Given the description of an element on the screen output the (x, y) to click on. 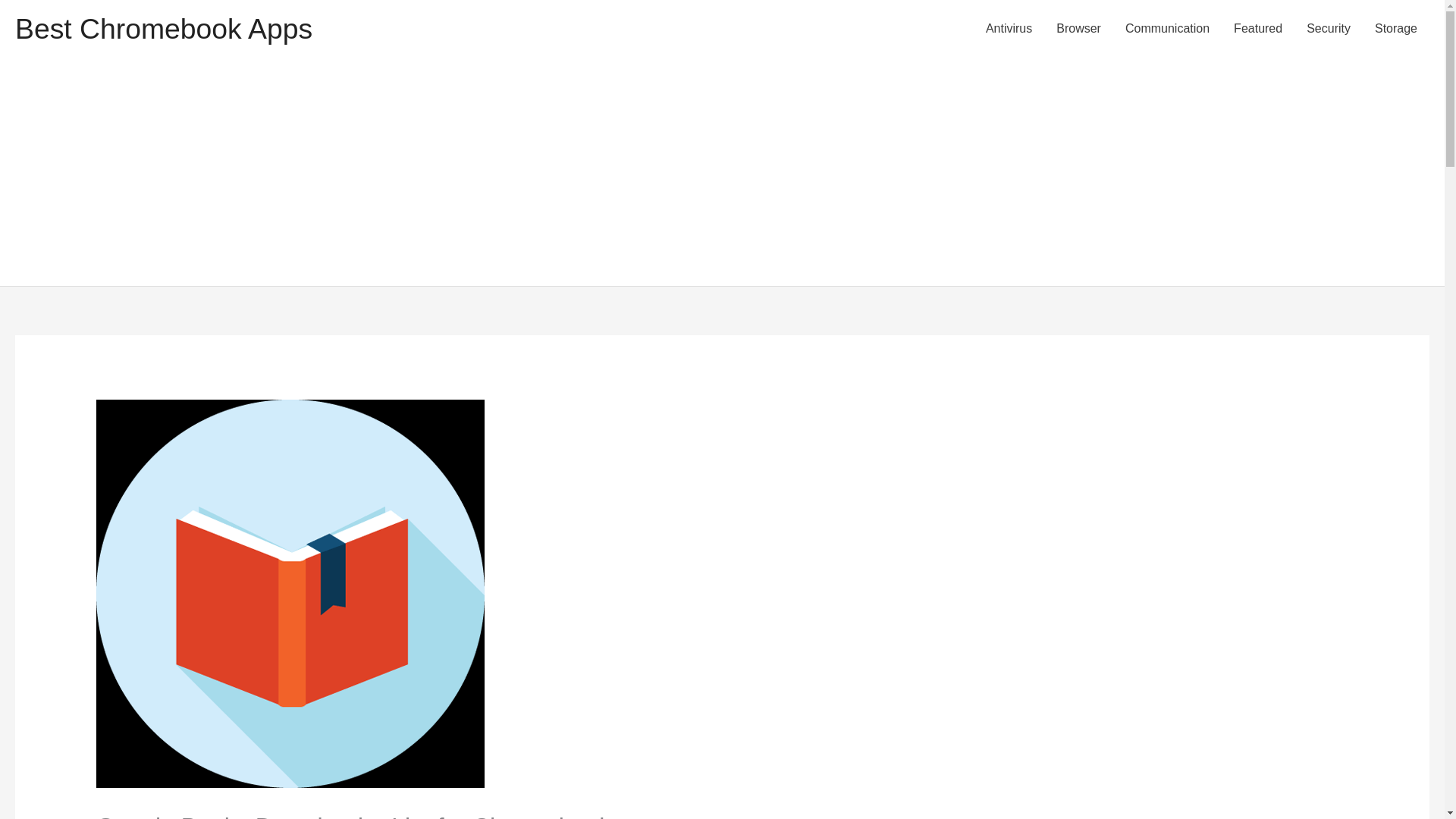
Antivirus (1008, 29)
Featured (1257, 29)
Security (1328, 29)
Browser (1078, 29)
Communication (1167, 29)
Best Chromebook Apps (163, 29)
Storage (1395, 29)
